Given the description of an element on the screen output the (x, y) to click on. 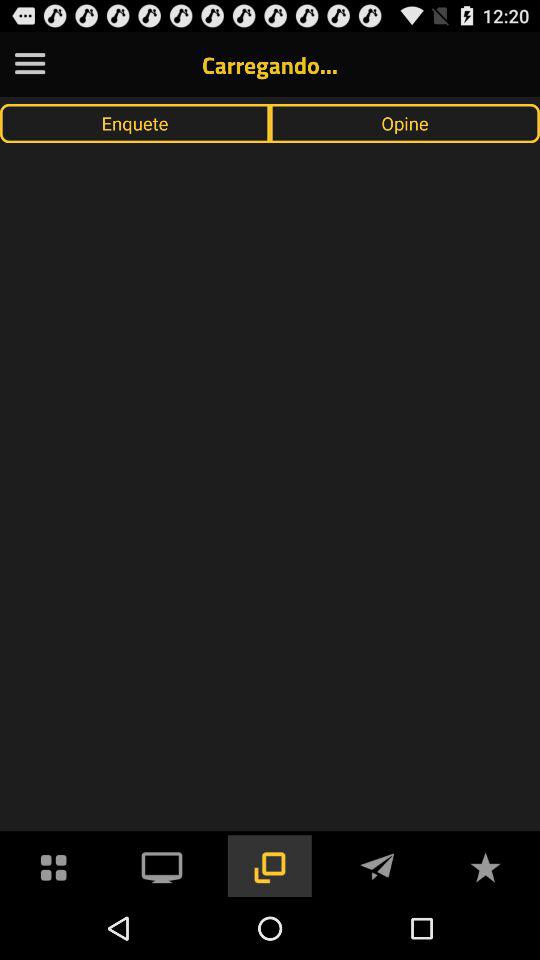
swipe until the enquete (135, 123)
